Given the description of an element on the screen output the (x, y) to click on. 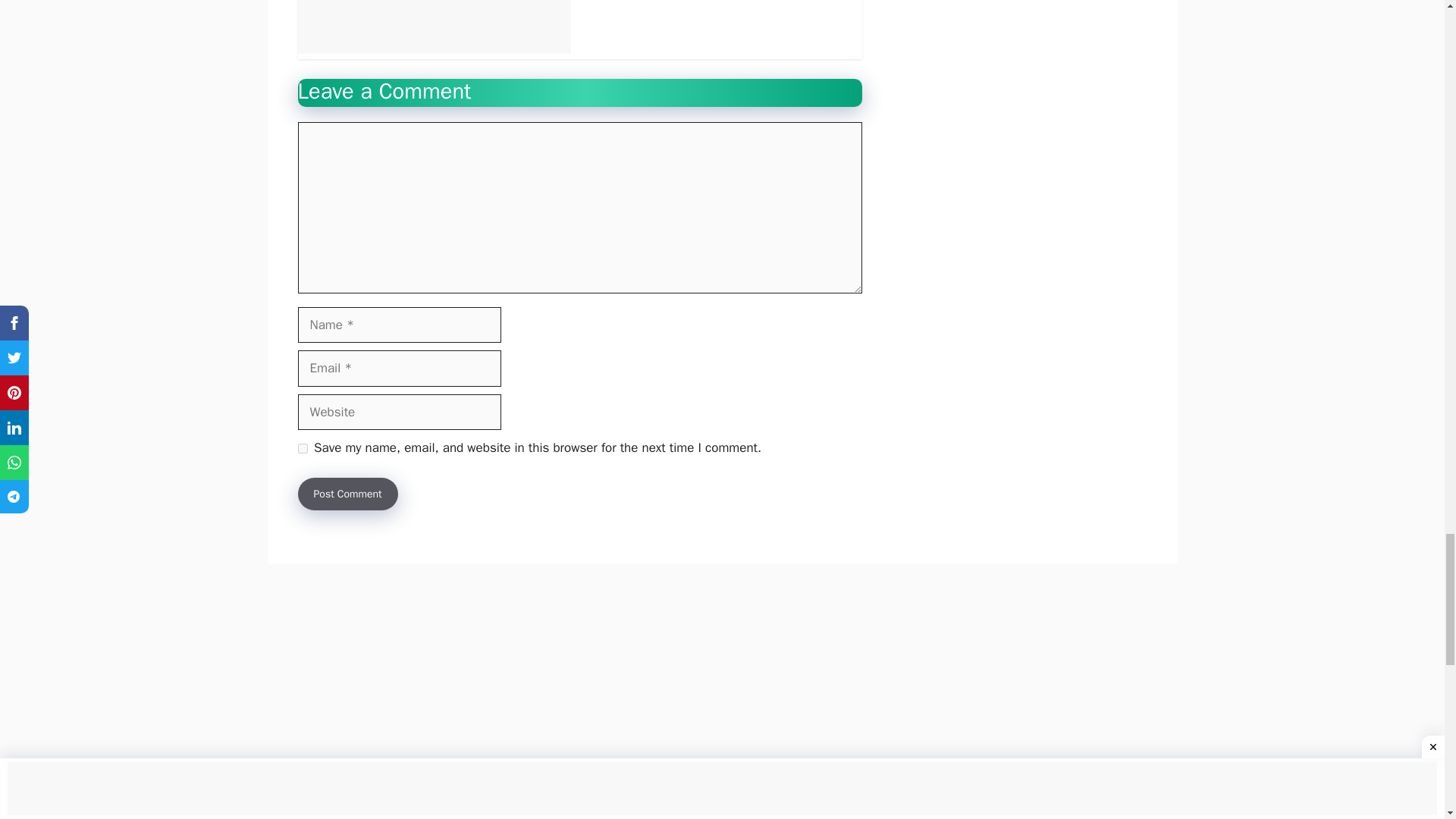
Post Comment (347, 493)
yes (302, 448)
